Given the description of an element on the screen output the (x, y) to click on. 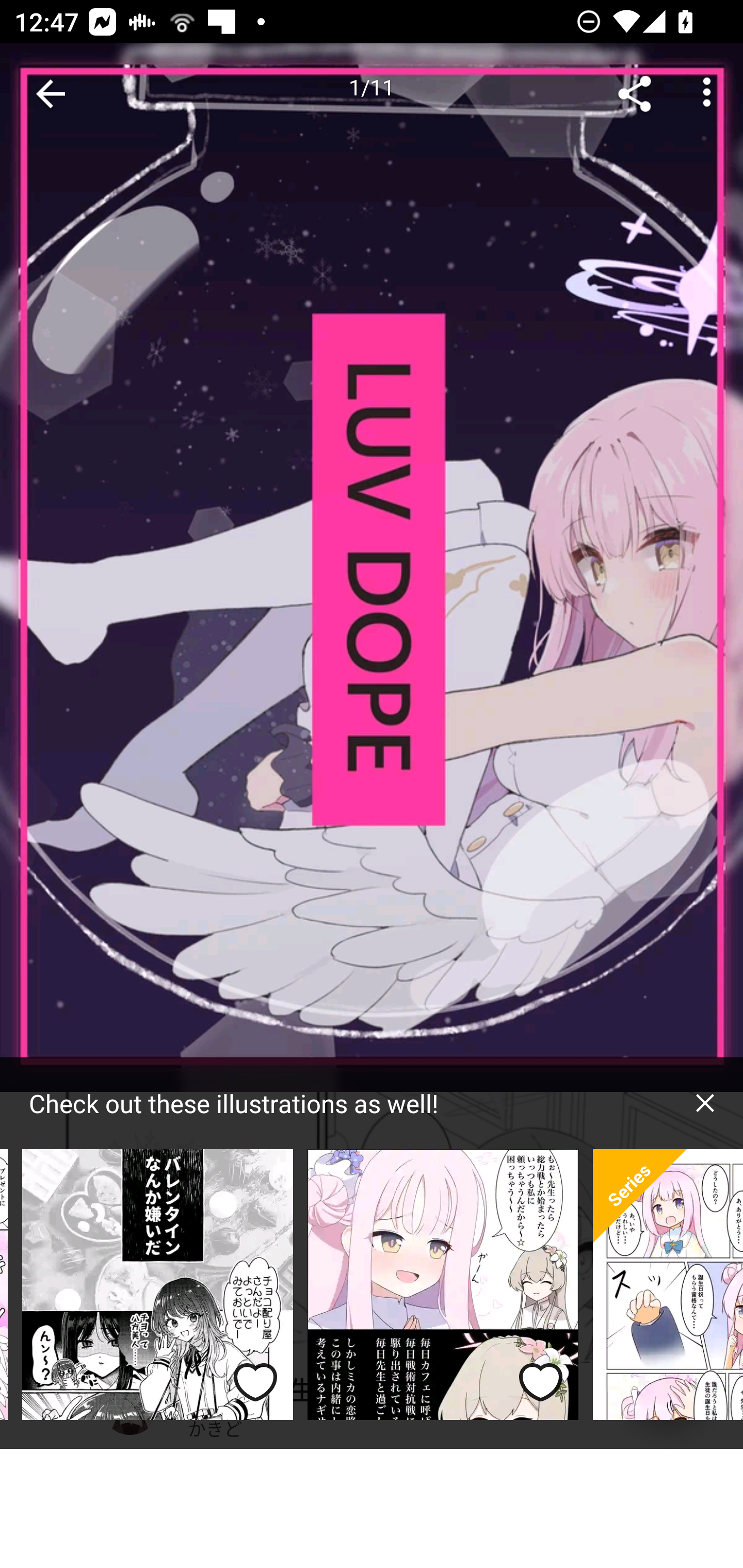
Share (634, 93)
More options (706, 93)
Series (667, 1284)
Series (639, 1196)
